Given the description of an element on the screen output the (x, y) to click on. 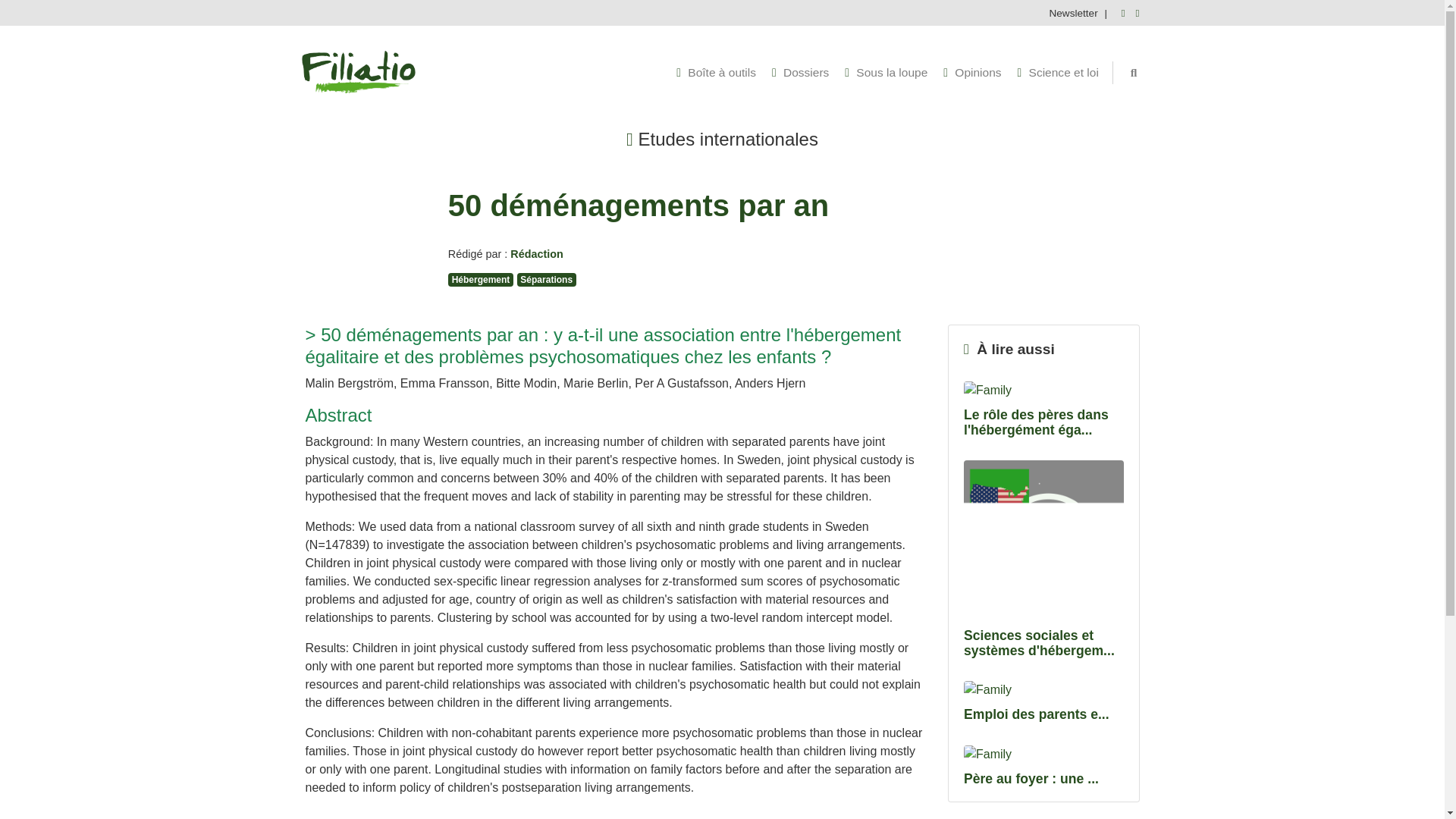
Science et loi (1058, 73)
Facebook (1119, 12)
Newsletter (1071, 12)
Opinions (972, 73)
Dossiers (799, 73)
Sous la loupe (885, 73)
Academia.edu (1134, 12)
